Given the description of an element on the screen output the (x, y) to click on. 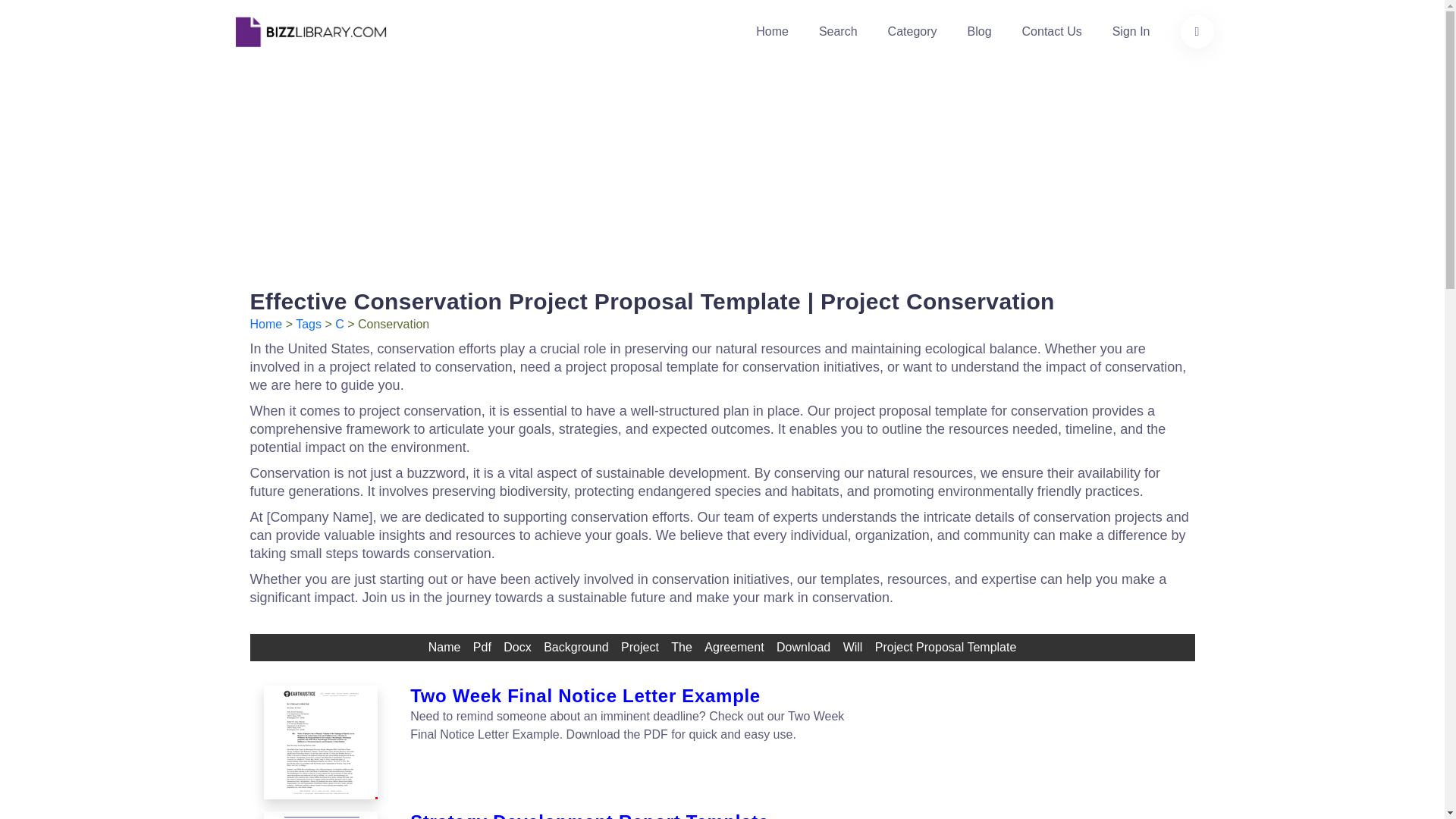
Project Proposal Template (945, 646)
Background (575, 646)
Pdf (482, 646)
The (681, 646)
Tags (308, 323)
Strategy Development Report Template (320, 815)
Template tags (308, 323)
Sign in to your account (1131, 31)
Two Week Final Notice Letter Example (641, 696)
Two Week Final Notice Letter Example (321, 742)
